Given the description of an element on the screen output the (x, y) to click on. 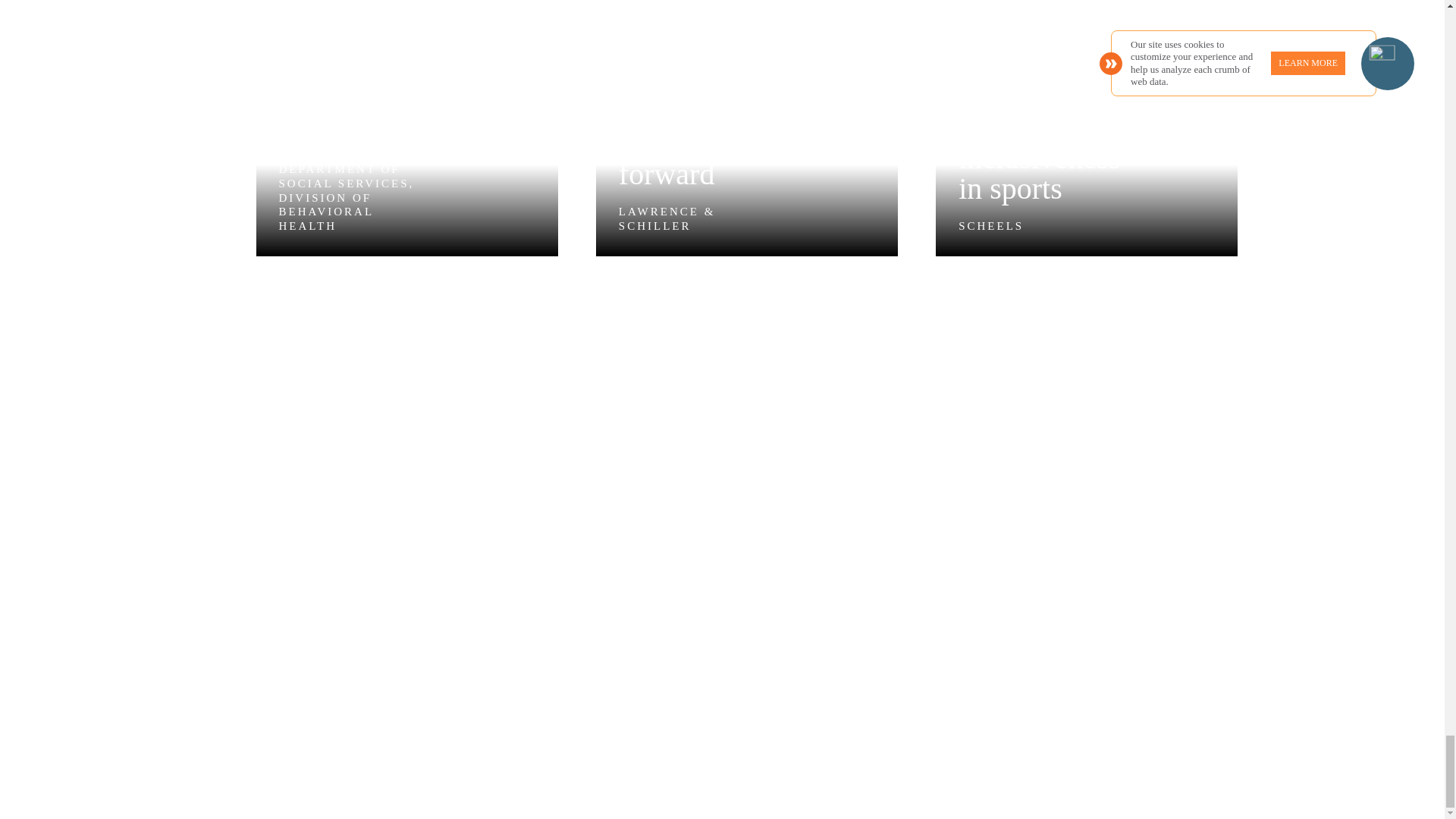
Do the Thing (492, 653)
